Given the description of an element on the screen output the (x, y) to click on. 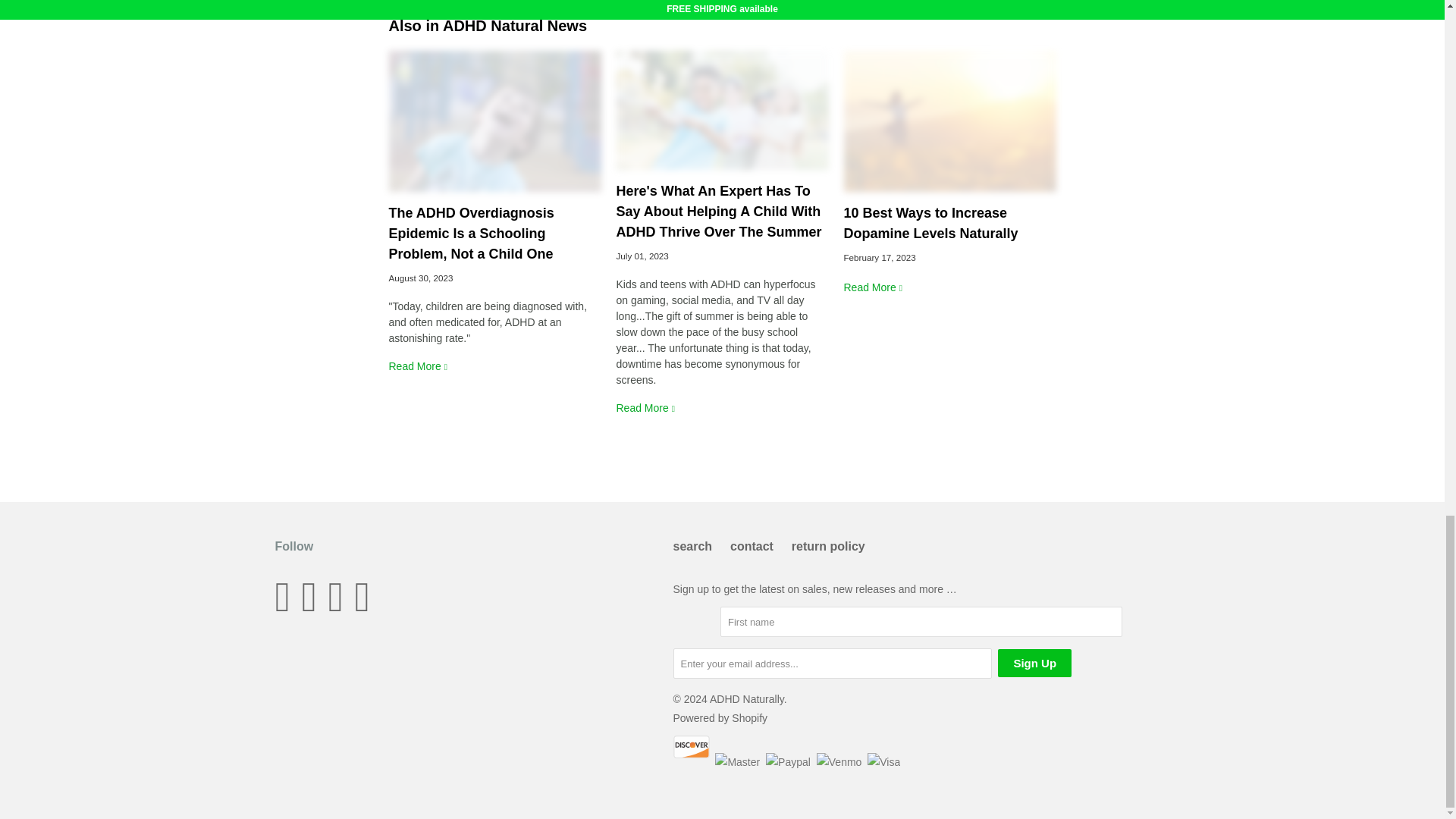
Sign Up (1034, 663)
